Given the description of an element on the screen output the (x, y) to click on. 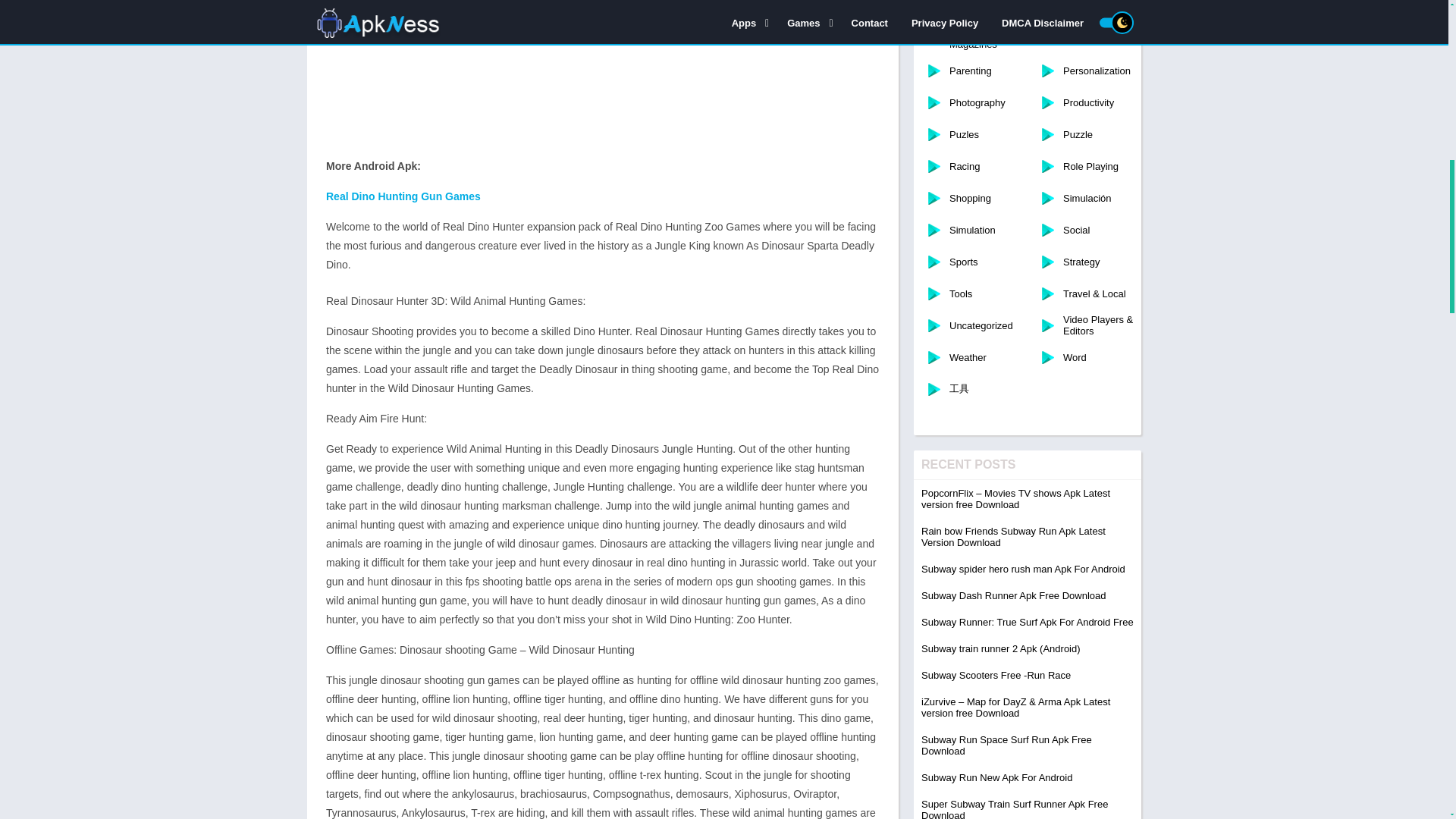
Advertisement (602, 75)
Real Dino Hunting Gun Games  (404, 196)
